Given the description of an element on the screen output the (x, y) to click on. 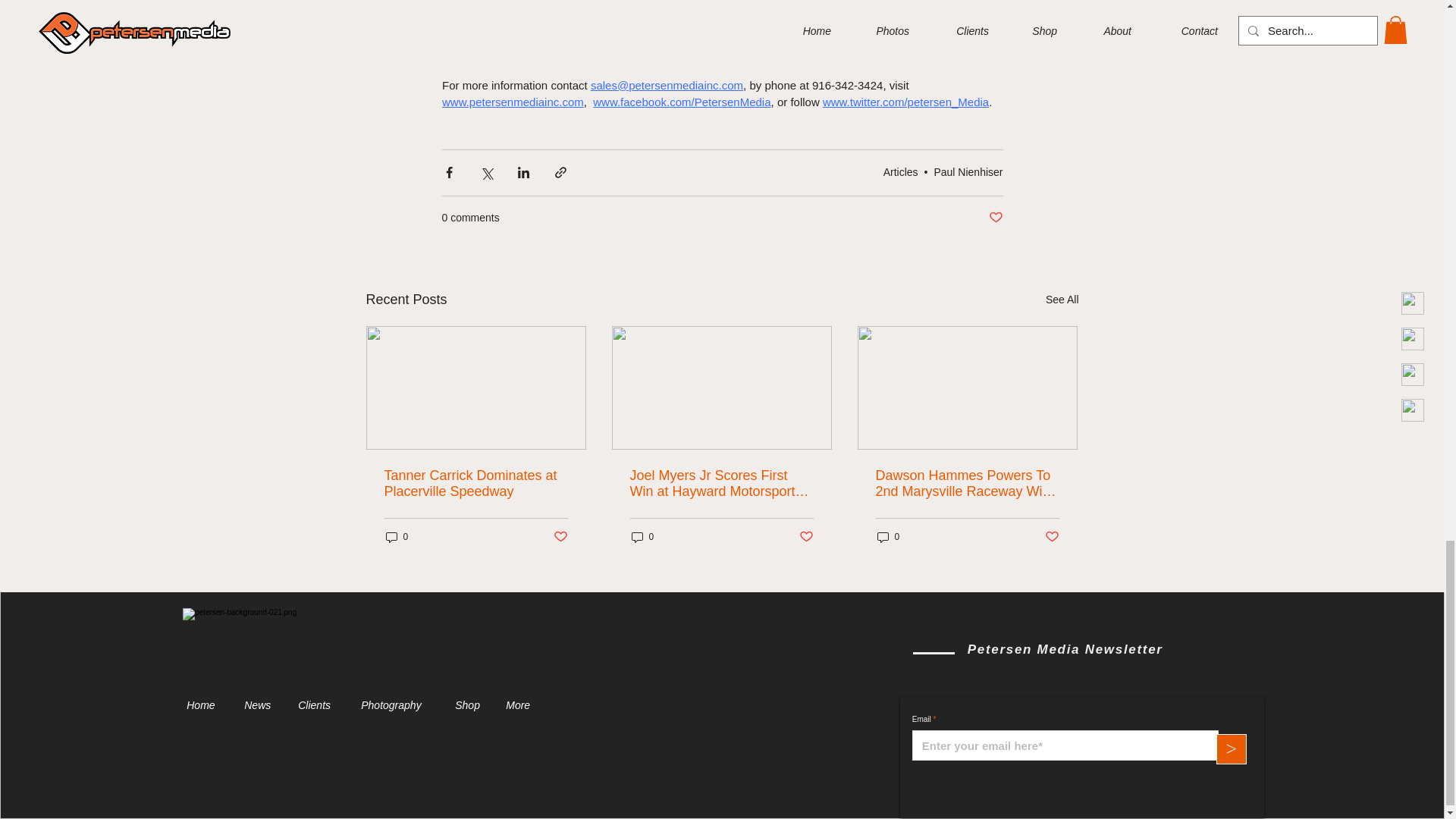
Post not marked as liked (806, 537)
Articles (900, 172)
0 (888, 536)
0 (641, 536)
Post not marked as liked (560, 537)
0 (396, 536)
Paul Nienhiser (968, 172)
See All (1061, 300)
www.petersenmediainc.com (512, 101)
Tanner Carrick Dominates at Placerville Speedway   (475, 483)
Post not marked as liked (995, 217)
